Given the description of an element on the screen output the (x, y) to click on. 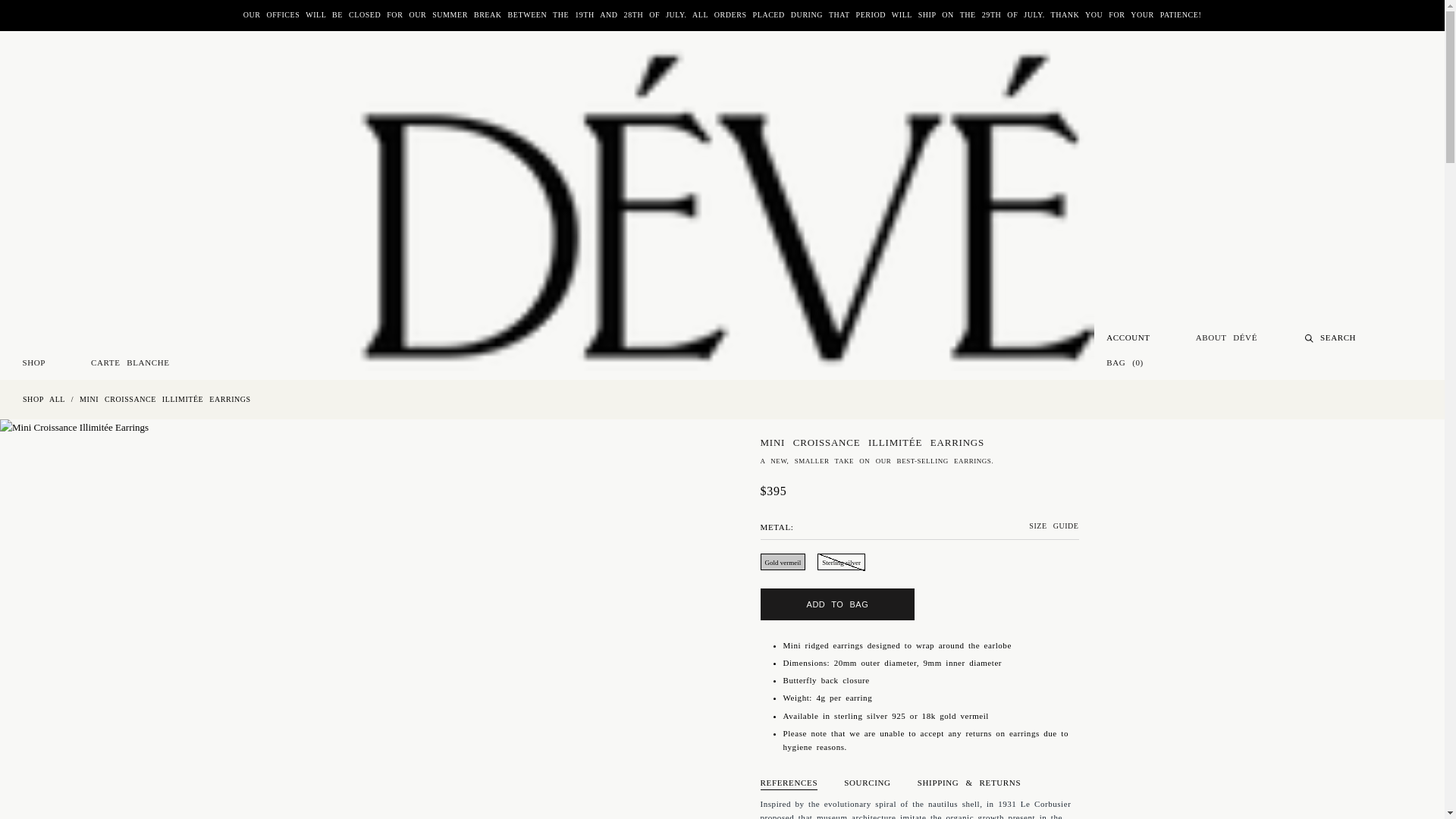
SHOP (34, 361)
Page 18 (919, 697)
CARTE BLANCHE (129, 361)
